Given the description of an element on the screen output the (x, y) to click on. 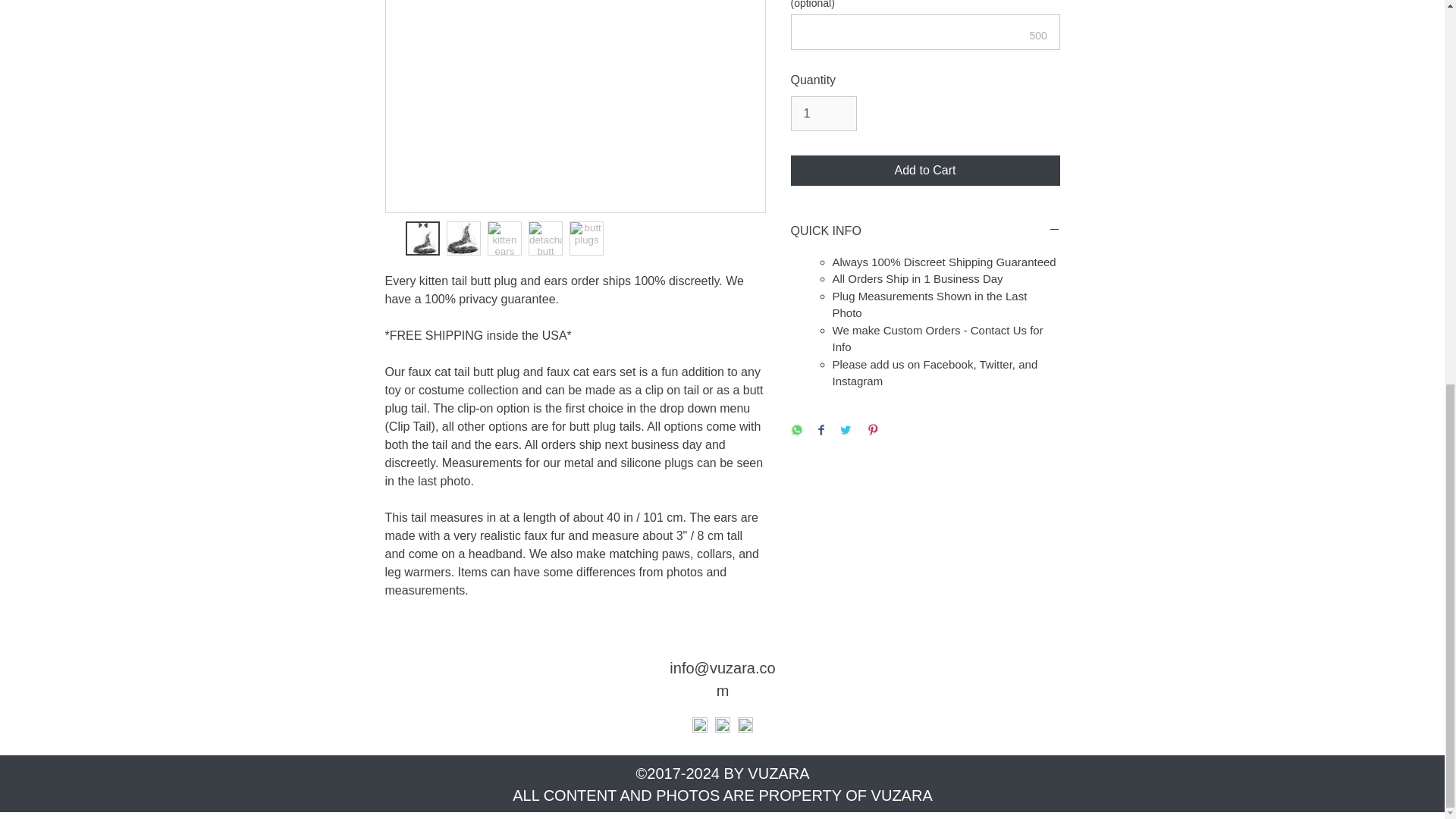
1 (823, 113)
